Given the description of an element on the screen output the (x, y) to click on. 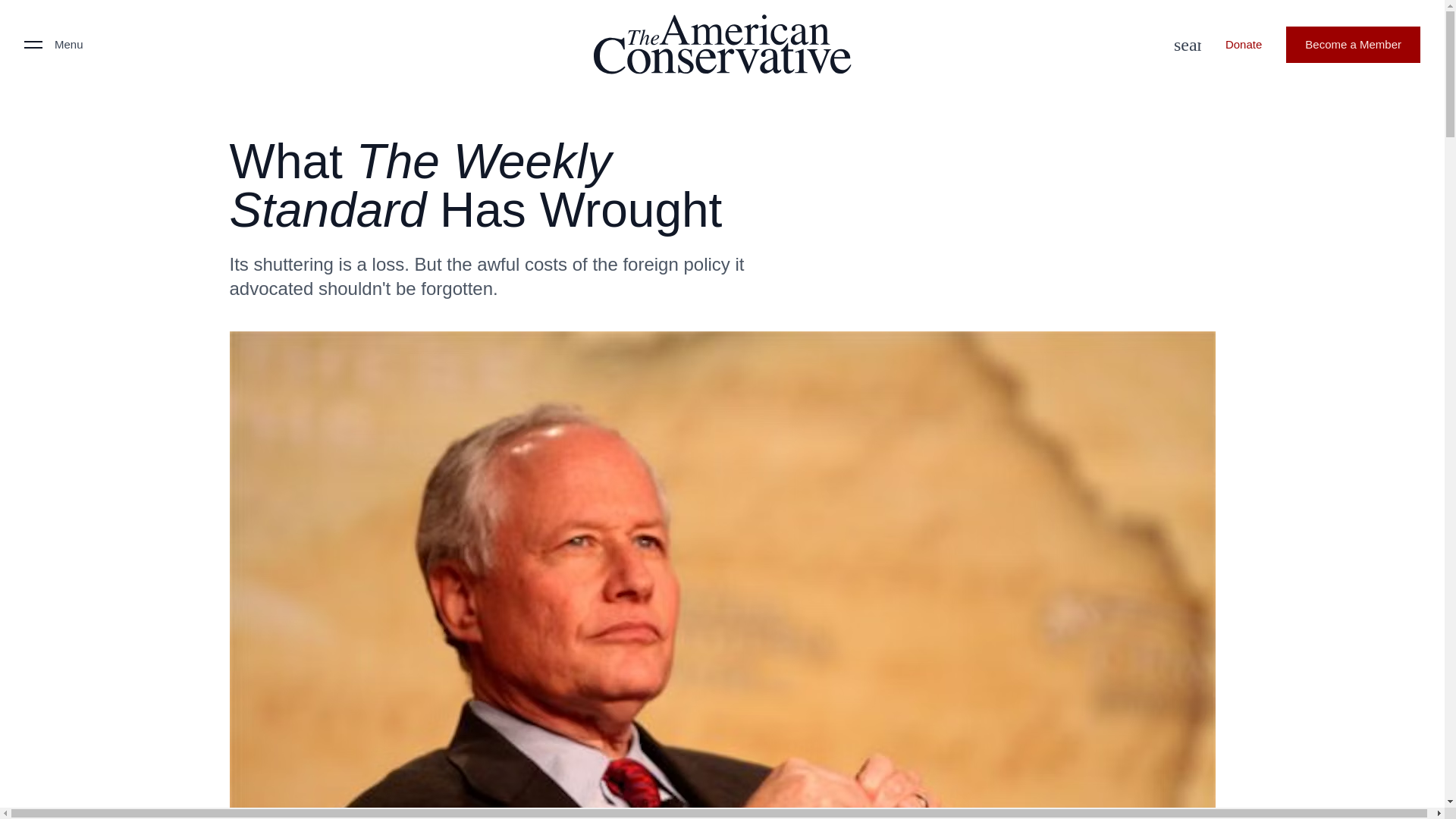
Menu (53, 44)
Donate (1243, 44)
search (1182, 44)
Become a Member (1353, 44)
